Given the description of an element on the screen output the (x, y) to click on. 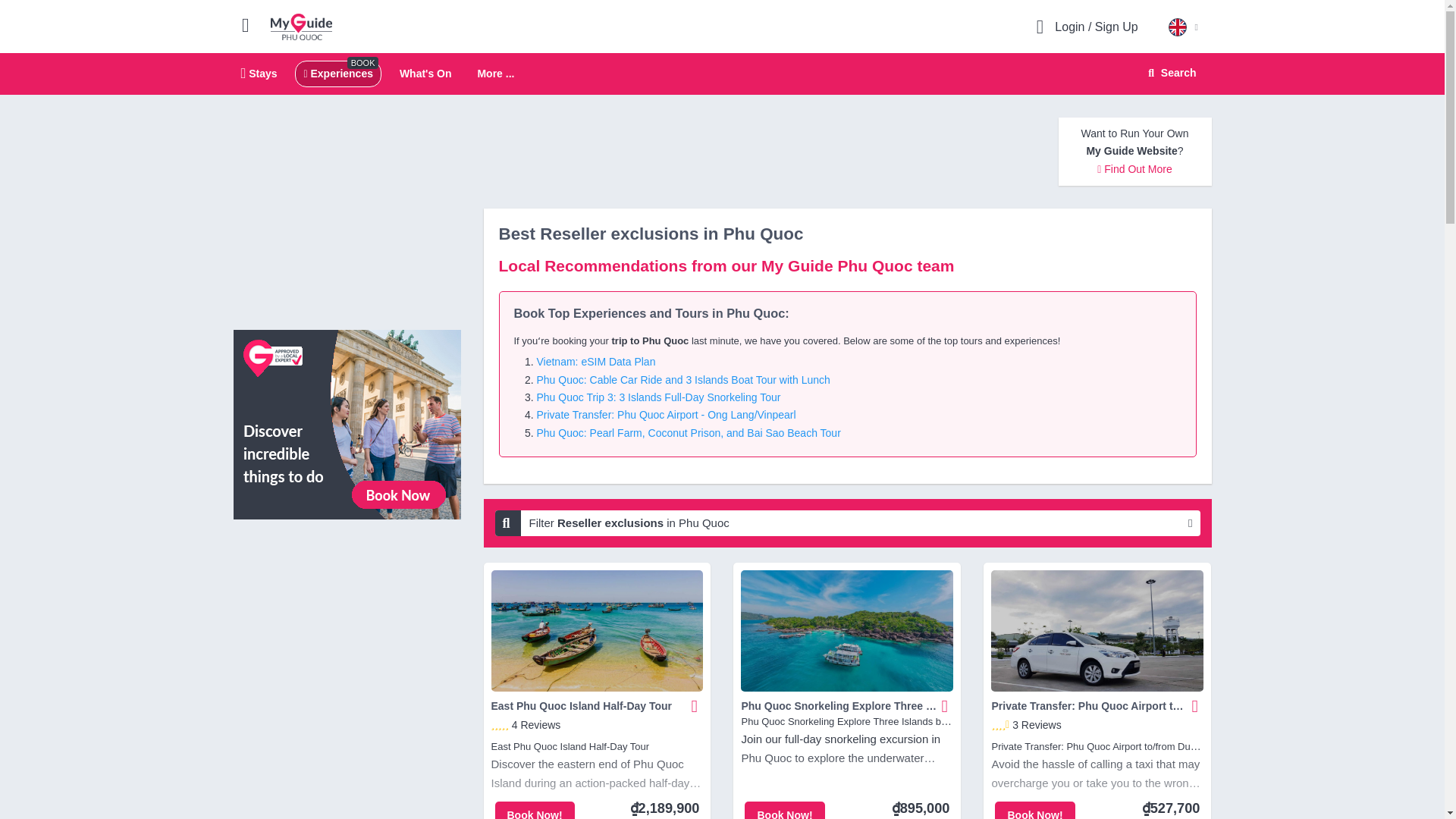
Experiences (337, 73)
More ... (495, 73)
Stays (259, 73)
What's On (721, 74)
My Guide Phu Quoc (424, 73)
Search (300, 25)
